Given the description of an element on the screen output the (x, y) to click on. 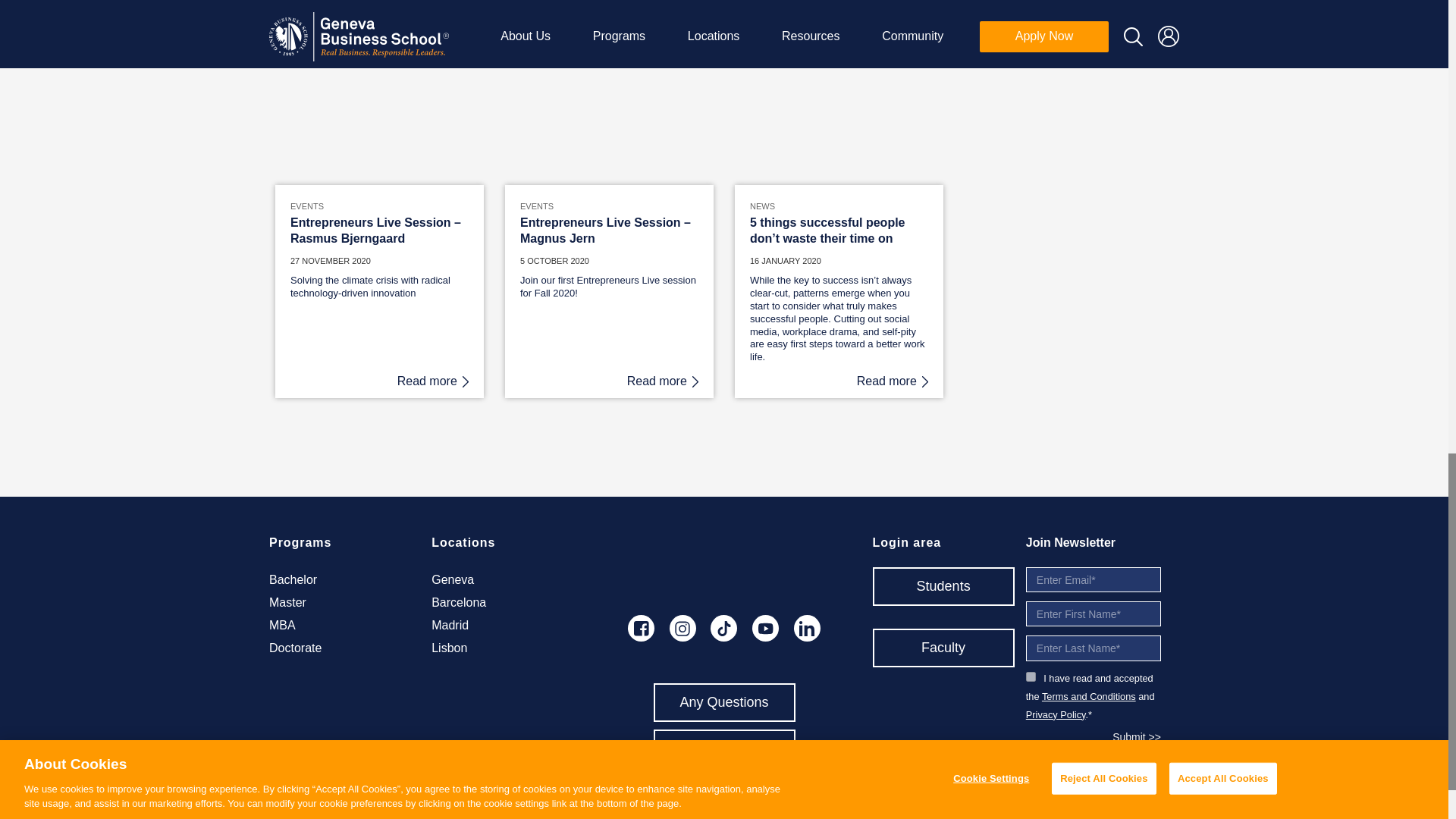
on (1030, 676)
